Given the description of an element on the screen output the (x, y) to click on. 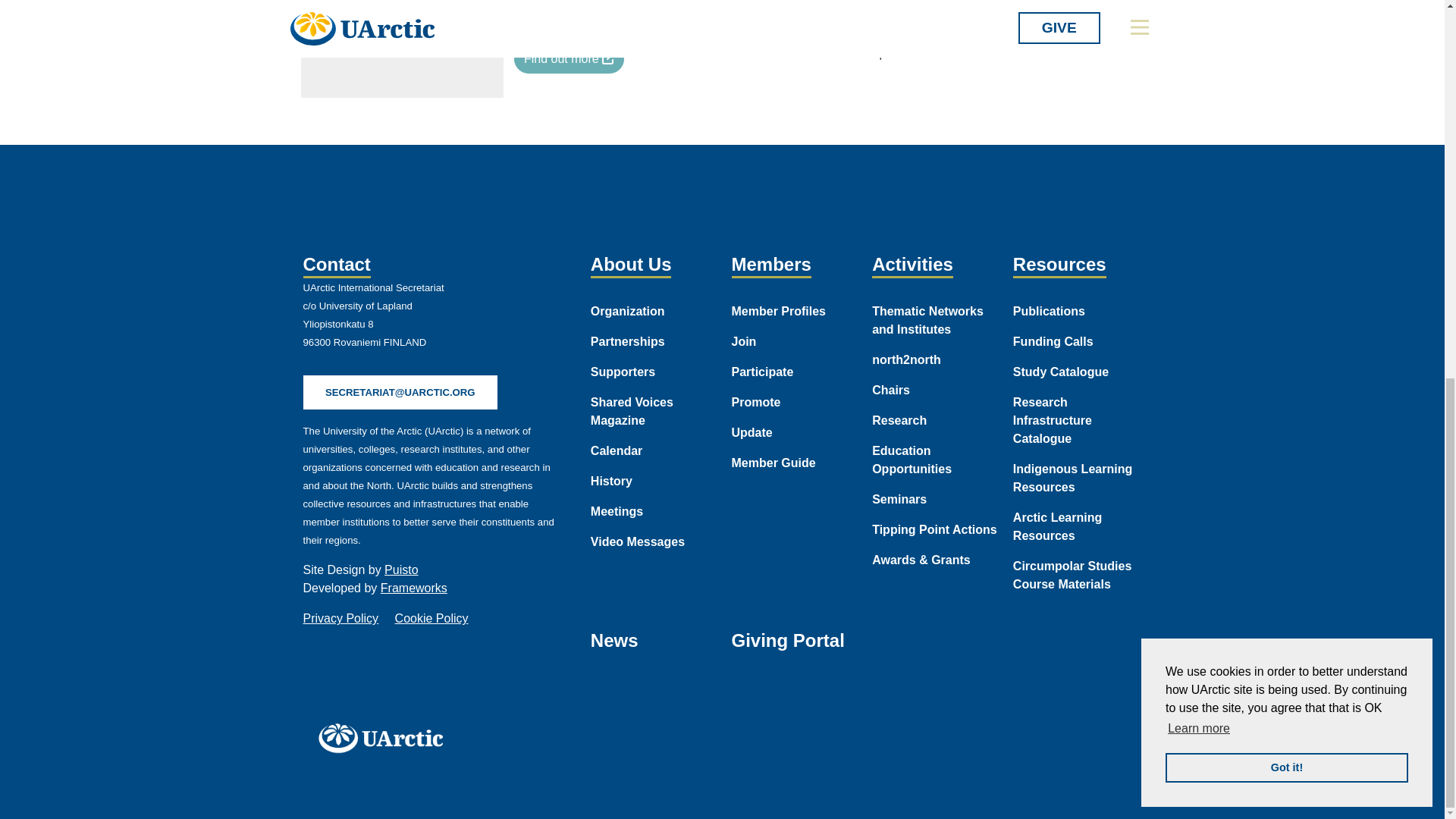
Center for Alaska Native Health Research (568, 59)
Cookie Policy (431, 617)
Got it! (1286, 67)
Privacy Policy (340, 617)
Learn more (1198, 28)
Report Error (889, 54)
UArctic 2021 (385, 737)
